Given the description of an element on the screen output the (x, y) to click on. 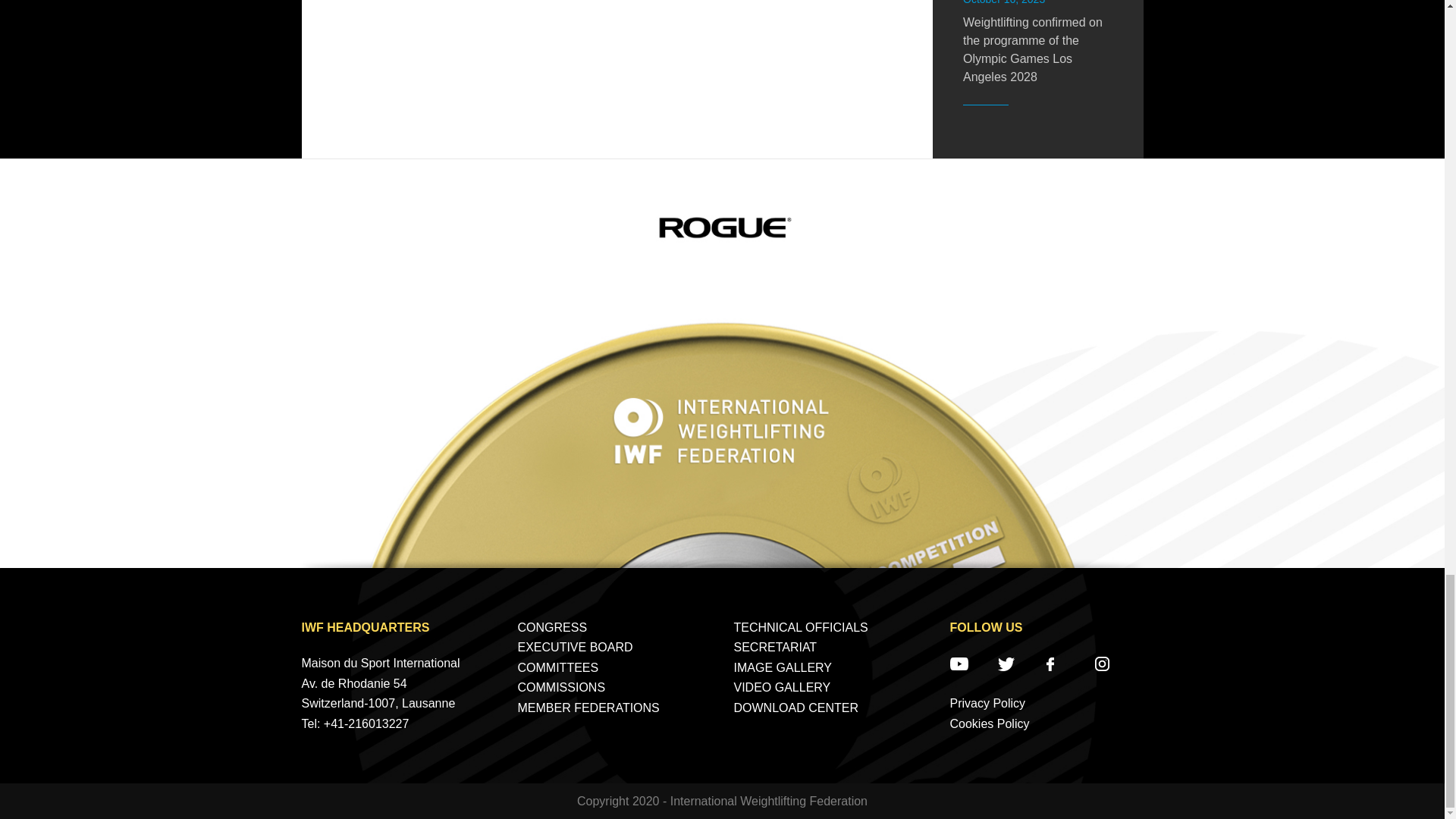
Rogue Fitness (722, 227)
